Given the description of an element on the screen output the (x, y) to click on. 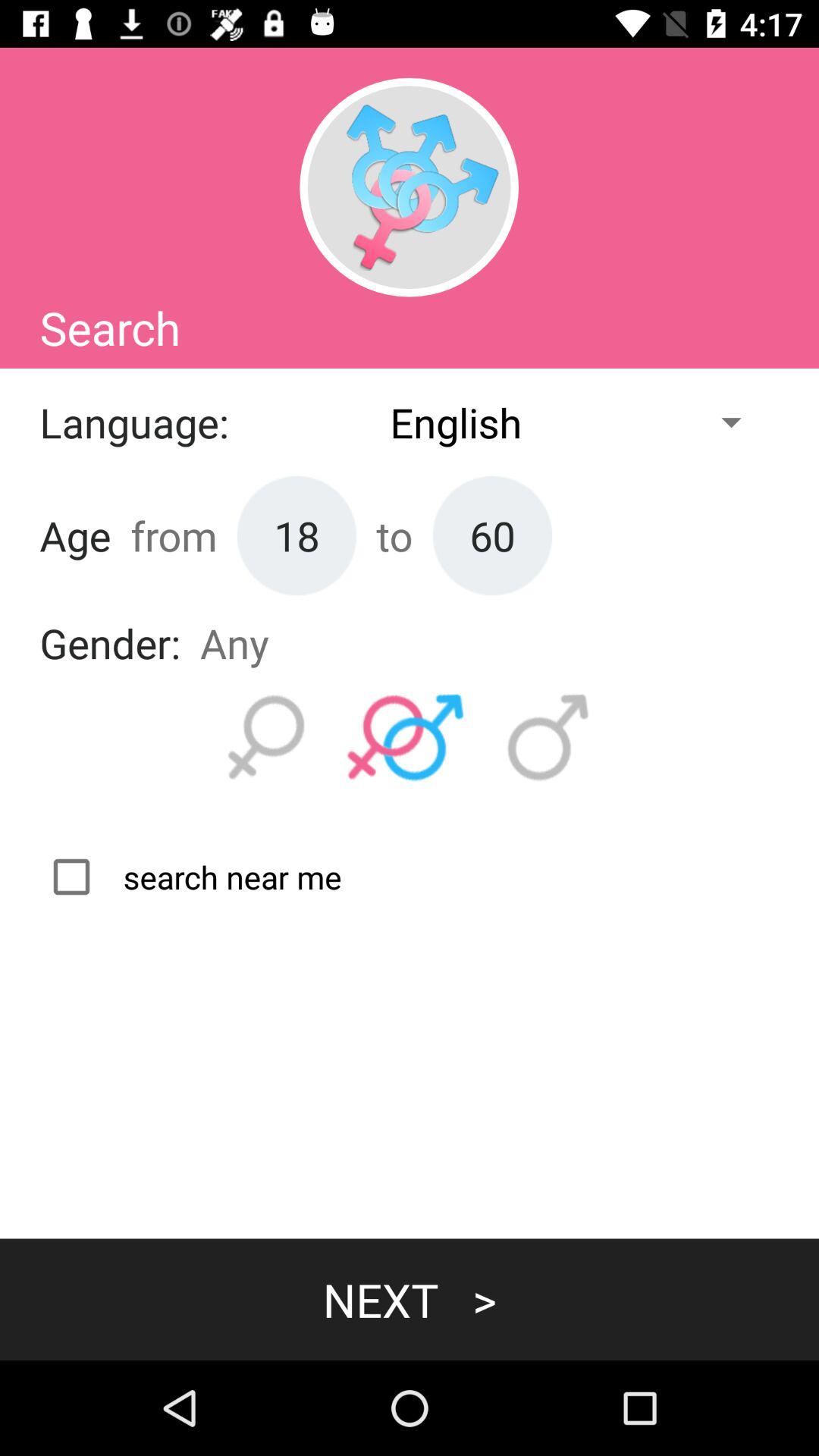
search male and female (405, 738)
